Given the description of an element on the screen output the (x, y) to click on. 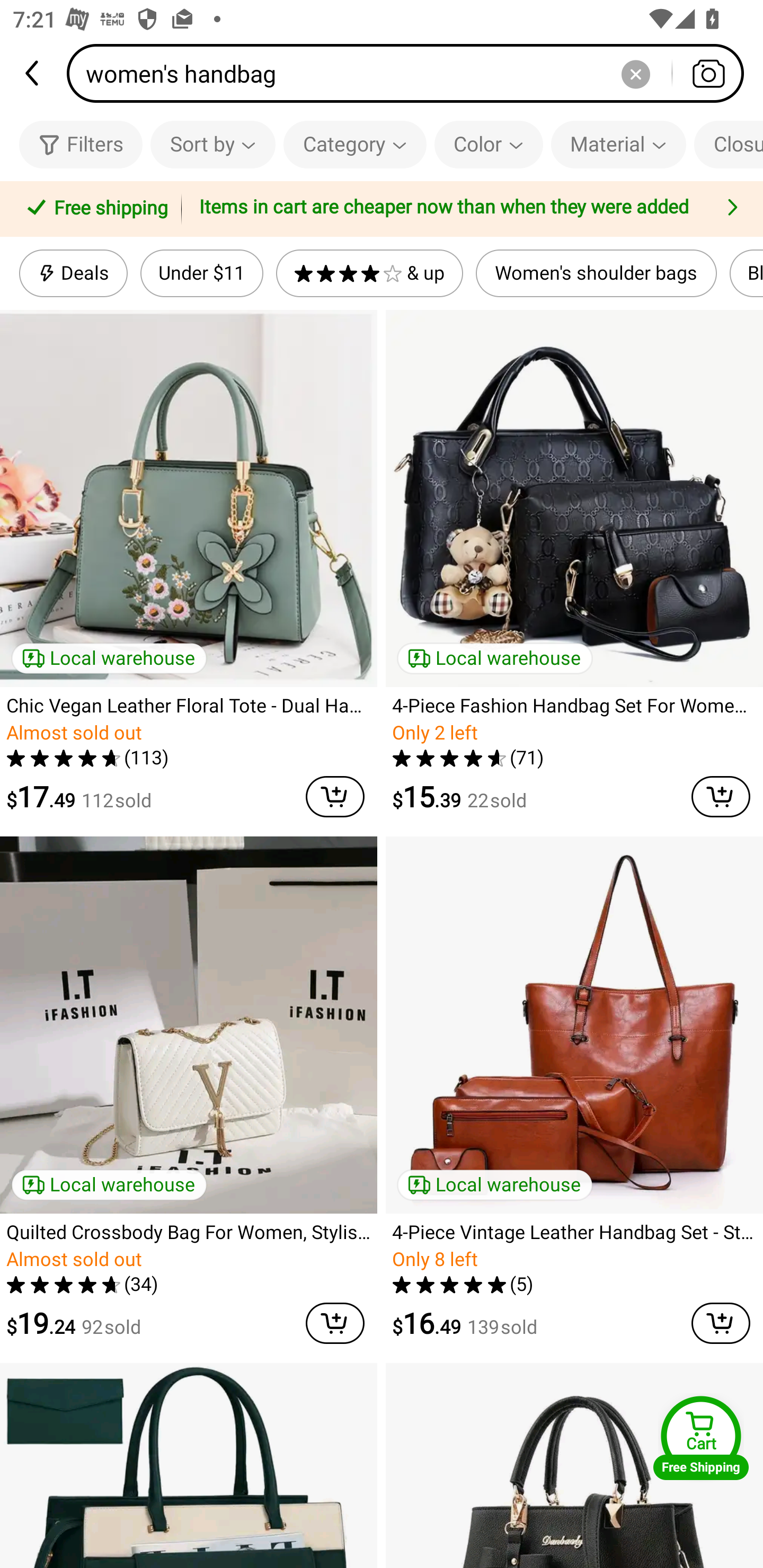
back (33, 72)
women's handbag (411, 73)
Delete search history (635, 73)
Search by photo (708, 73)
Filters (80, 143)
Sort by (212, 143)
Category (354, 143)
Color (488, 143)
Material (617, 143)
Closure (728, 143)
 Free shipping (93, 208)
Deals (73, 273)
Under $11 (201, 273)
& up (369, 273)
Women's shoulder bags (596, 273)
Cart Free Shipping Cart (701, 1437)
